Given the description of an element on the screen output the (x, y) to click on. 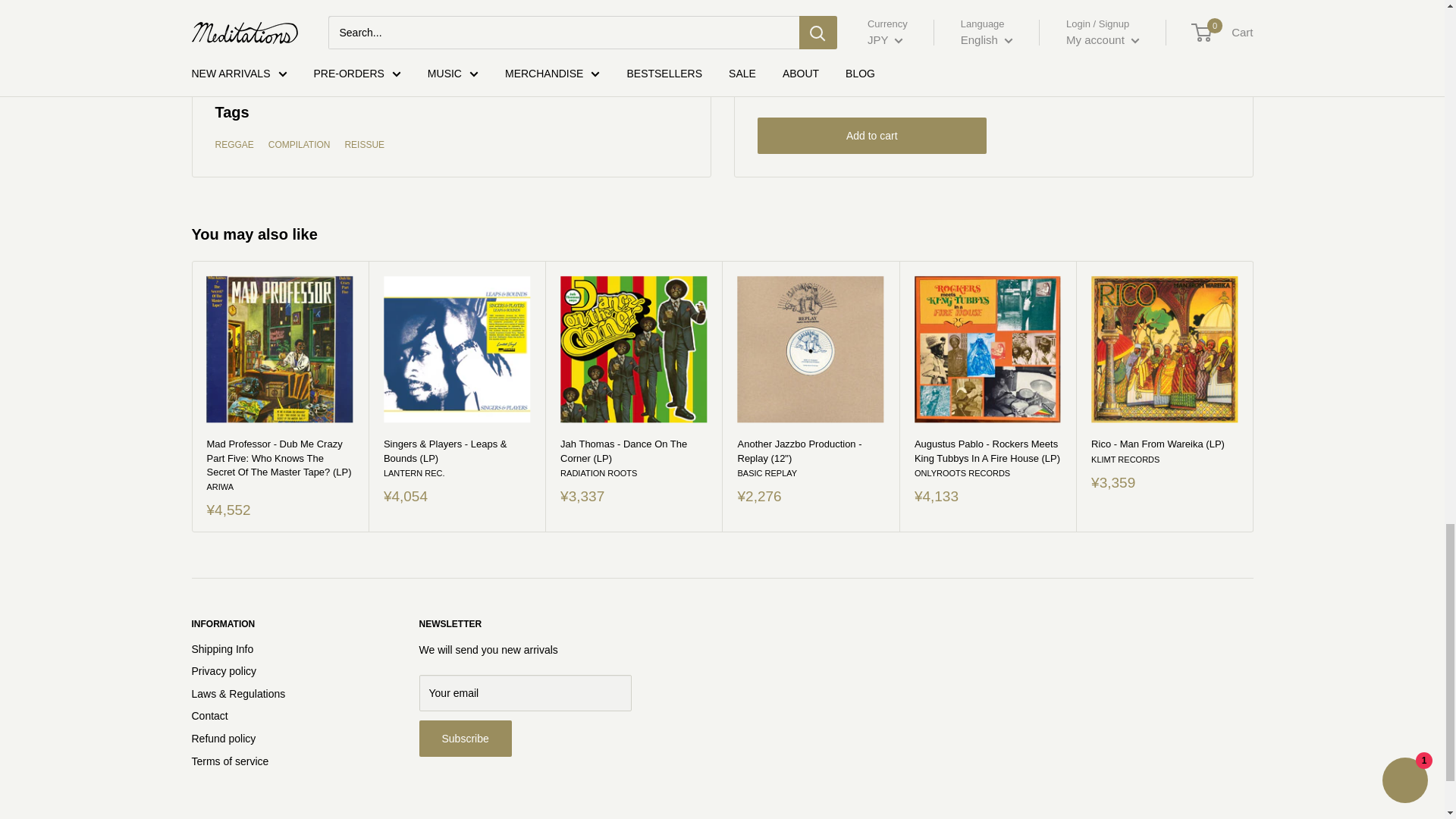
YouTube video player (451, 12)
